Given the description of an element on the screen output the (x, y) to click on. 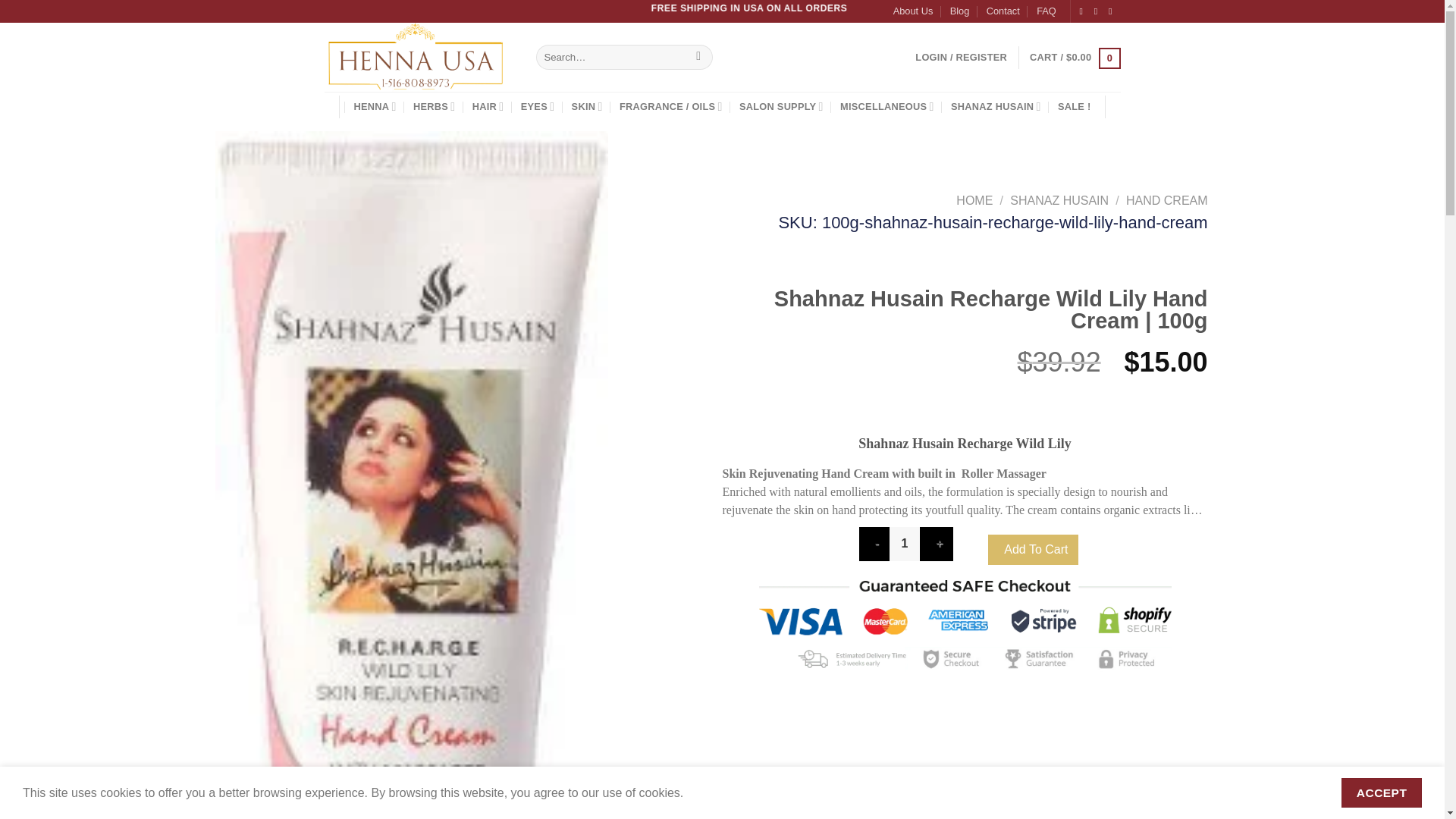
Login (961, 57)
Cart (1074, 57)
Henna USA - Premium Henna Collection (418, 56)
Search (698, 57)
Blog (959, 11)
Contact (1003, 11)
HERBS (433, 106)
HENNA (374, 106)
- (874, 544)
FAQ (1046, 11)
